Given the description of an element on the screen output the (x, y) to click on. 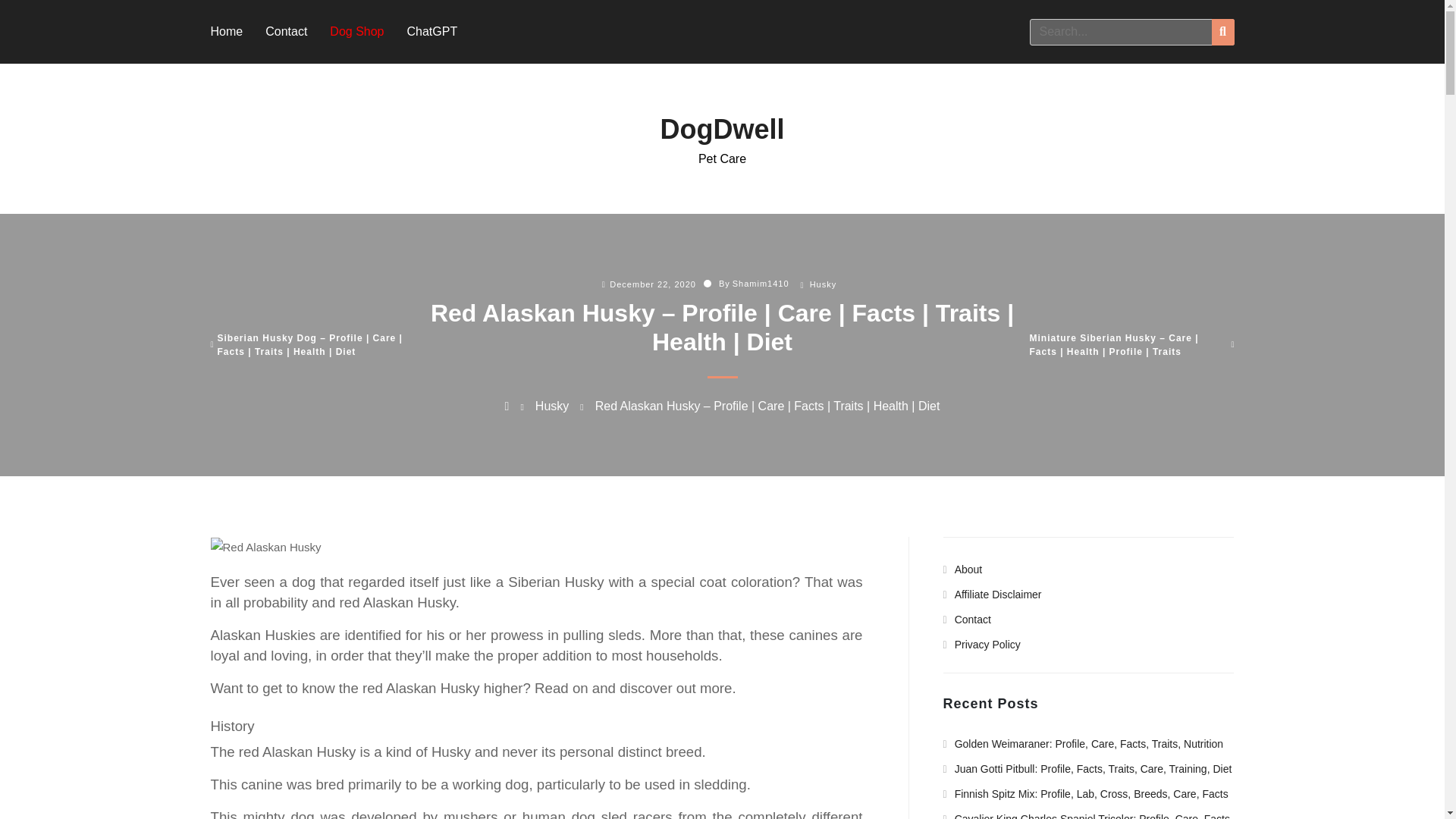
Home (227, 31)
Husky (552, 405)
Contact (285, 31)
Shamim1410 (760, 283)
December 22, 2020 (652, 284)
ChatGPT (431, 31)
Dog Shop (357, 31)
DogDwell (721, 128)
Husky (823, 284)
